Given the description of an element on the screen output the (x, y) to click on. 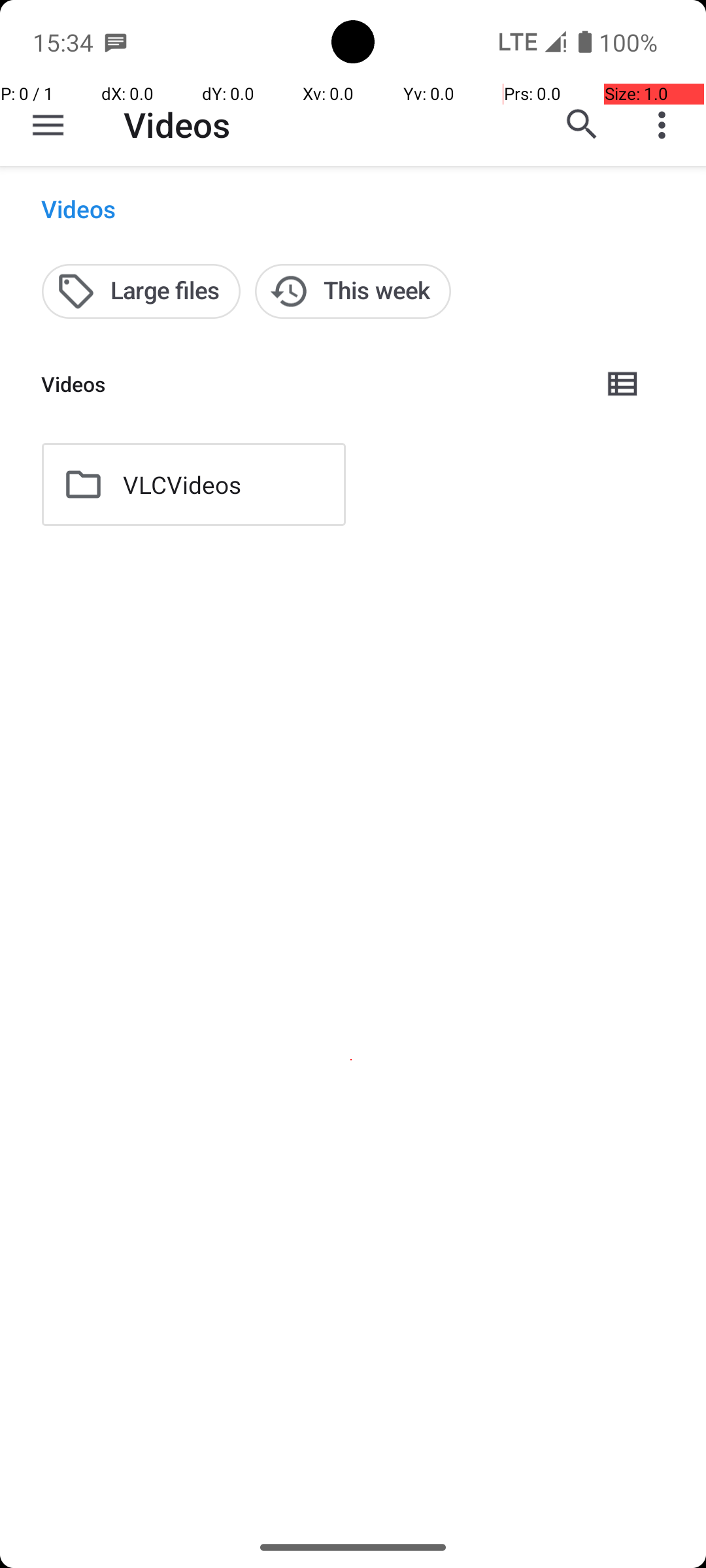
VLCVideos Element type: android.widget.TextView (181, 484)
